Given the description of an element on the screen output the (x, y) to click on. 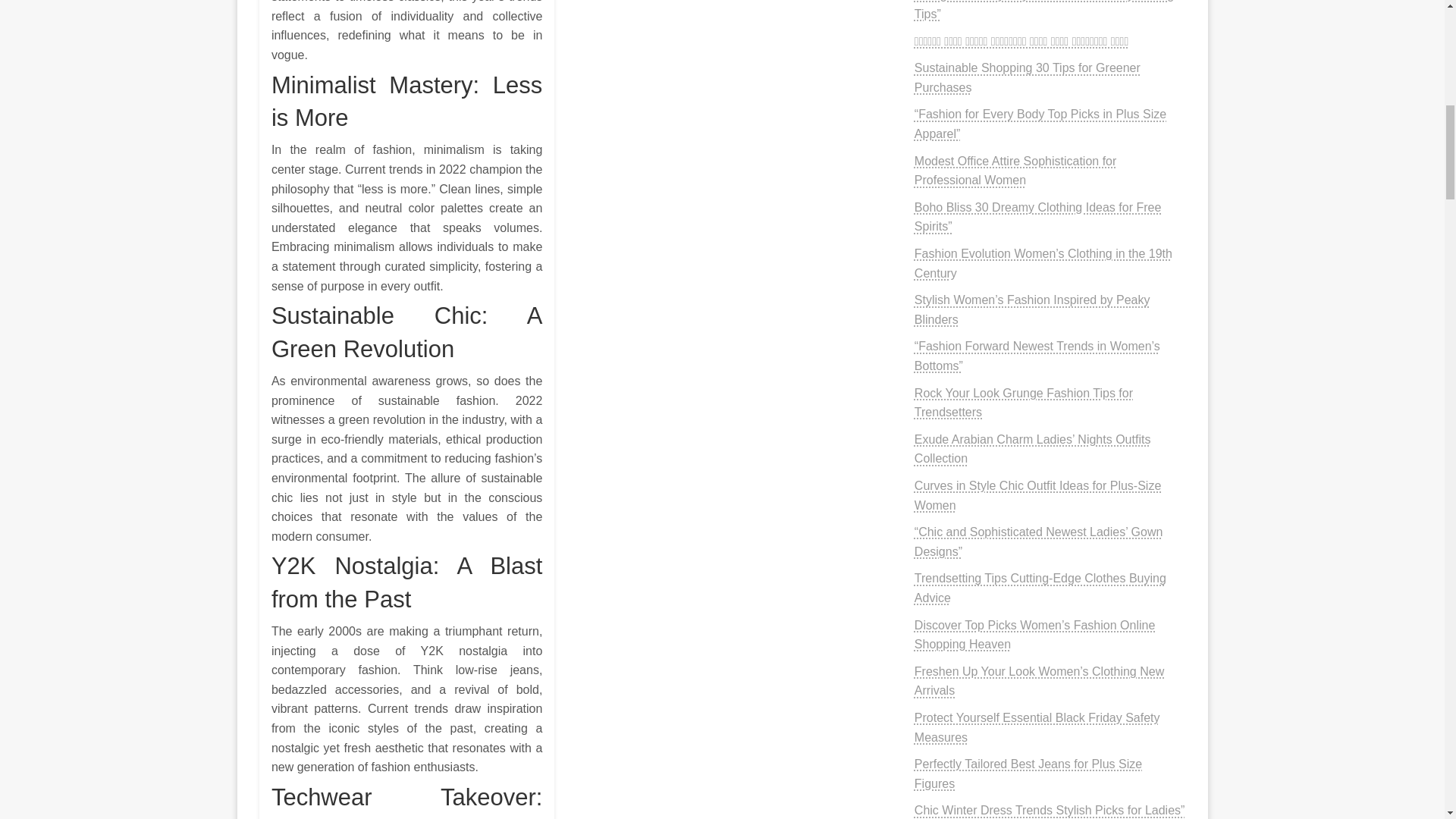
Sustainable Shopping 30 Tips for Greener Purchases (1027, 77)
